Given the description of an element on the screen output the (x, y) to click on. 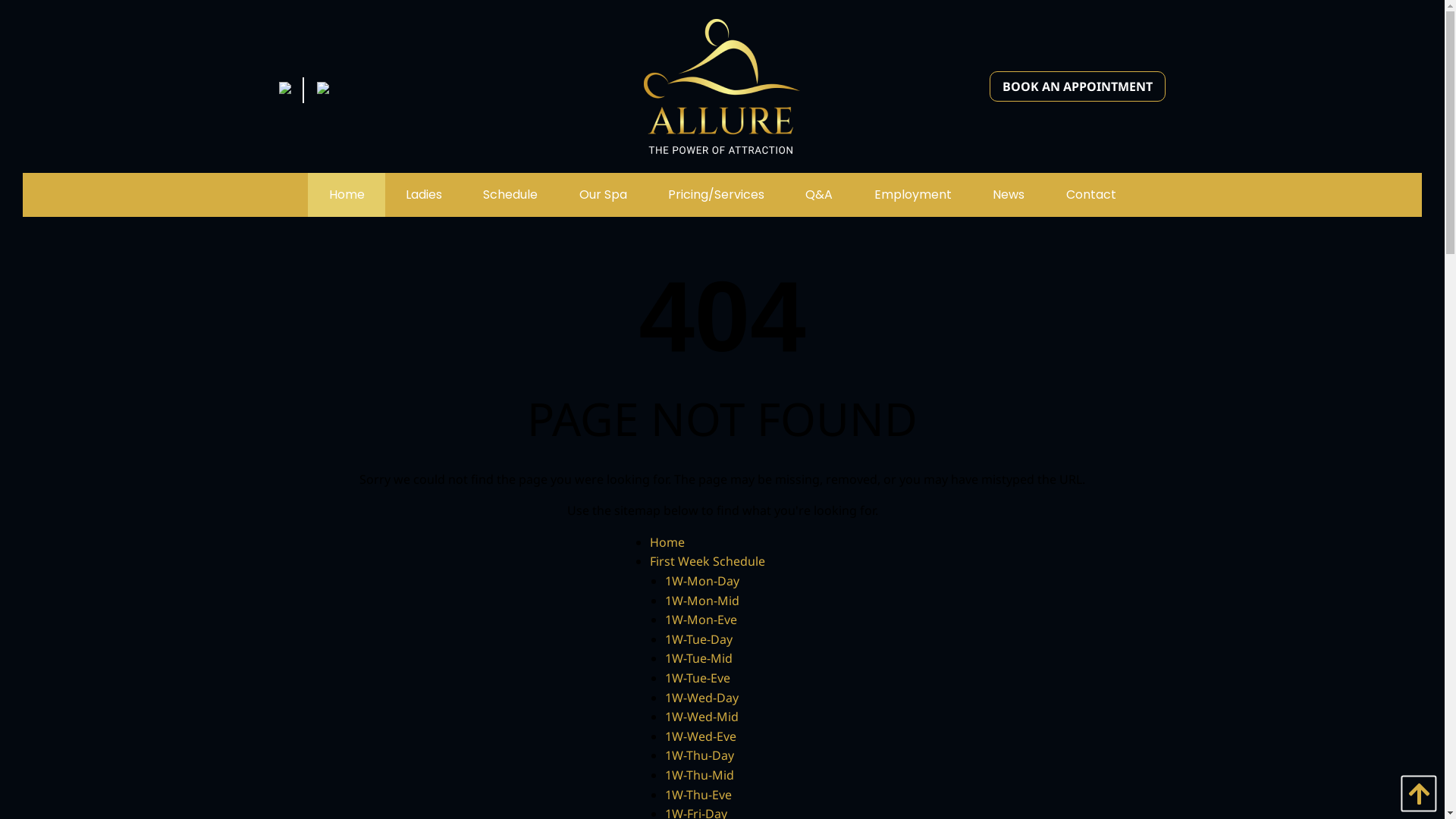
Contact Element type: text (1089, 194)
Home Element type: text (666, 541)
BOOK AN APPOINTMENT Element type: text (1077, 86)
1W-Thu-Mid Element type: text (698, 774)
1W-Mon-Mid Element type: text (701, 600)
1W-Mon-Day Element type: text (701, 580)
1W-Wed-Mid Element type: text (700, 716)
Q&A Element type: text (818, 194)
1W-Thu-Day Element type: text (698, 754)
1W-Tue-Eve Element type: text (696, 677)
1W-Tue-Mid Element type: text (697, 657)
First Week Schedule Element type: text (706, 560)
1W-Mon-Eve Element type: text (700, 619)
Employment Element type: text (912, 194)
Pricing/Services Element type: text (715, 194)
1W-Thu-Eve Element type: text (697, 793)
Schedule Element type: text (510, 194)
Our Spa Element type: text (602, 194)
Home Element type: text (345, 194)
1W-Tue-Day Element type: text (697, 638)
1W-Wed-Day Element type: text (700, 697)
Ladies Element type: text (423, 194)
News Element type: text (1008, 194)
1W-Wed-Eve Element type: text (699, 736)
